Given the description of an element on the screen output the (x, y) to click on. 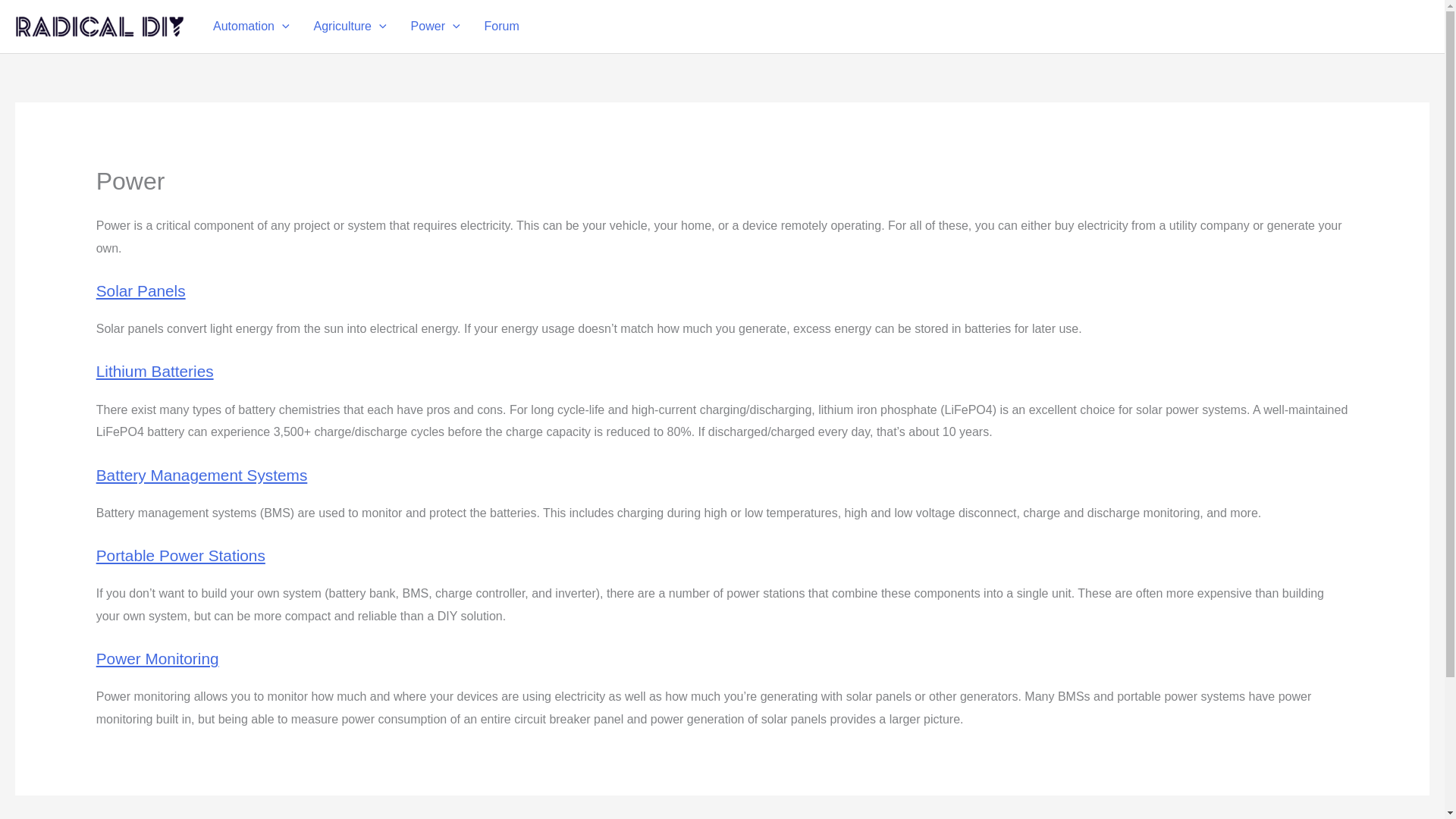
Automation (250, 26)
Power (434, 26)
Forum (501, 26)
Agriculture (349, 26)
Lithium Batteries (155, 371)
Solar Panels (141, 290)
